Given the description of an element on the screen output the (x, y) to click on. 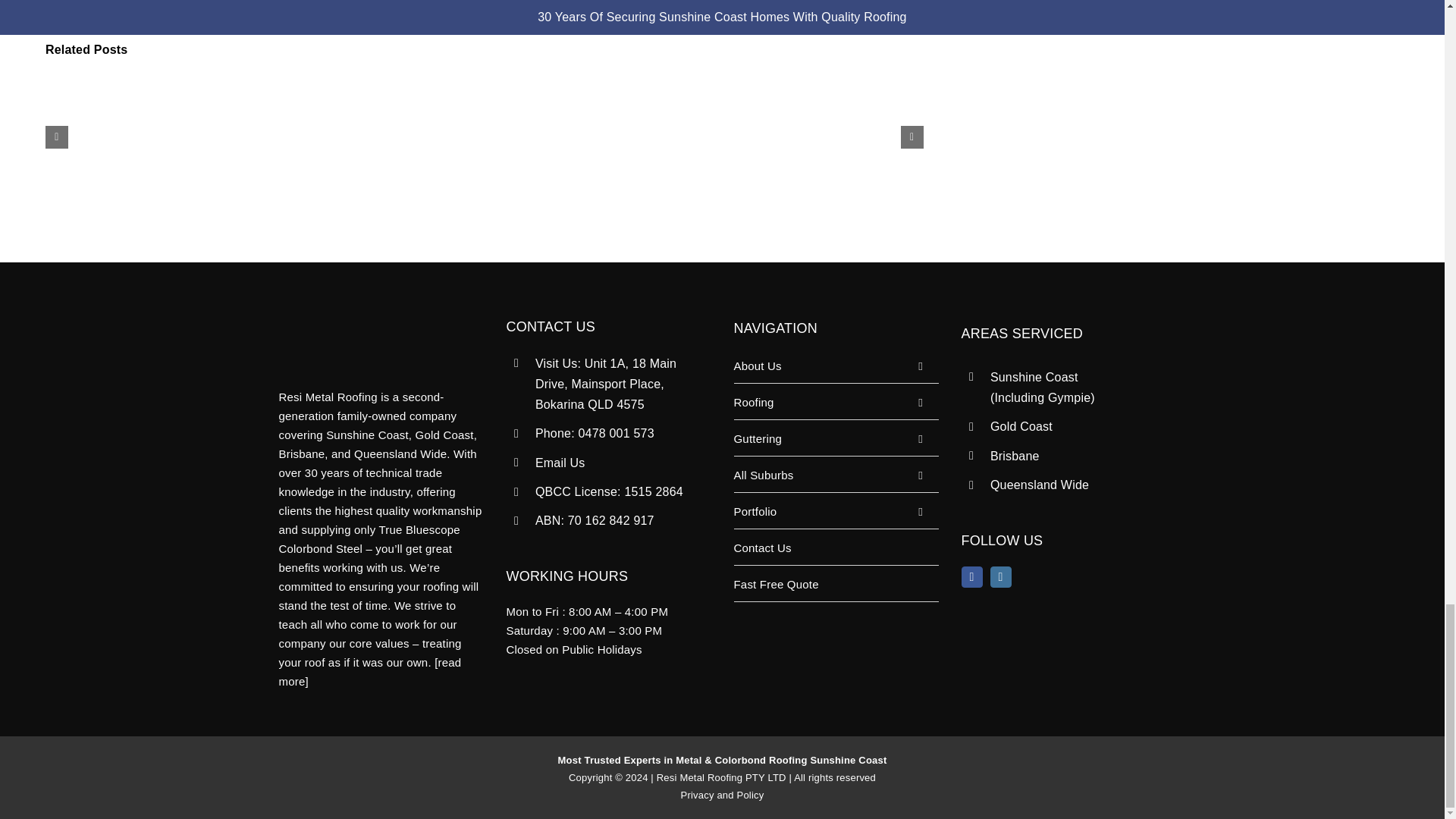
The Dangers of Not Cleaning Your Gutters 3 (483, 136)
The Importance of Gutters to Your Metal Roof 4 (786, 136)
